Given the description of an element on the screen output the (x, y) to click on. 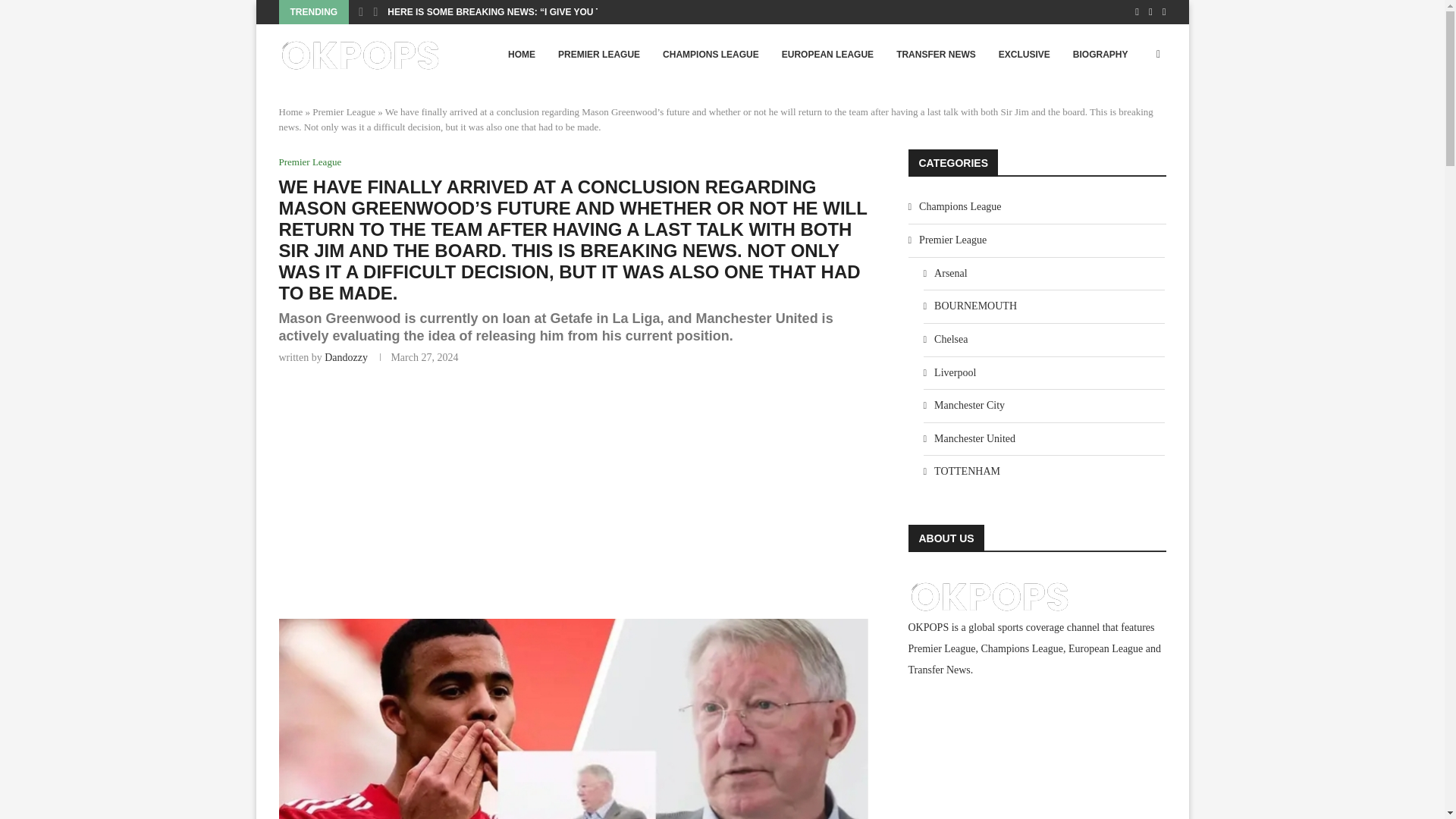
EUROPEAN LEAGUE (827, 54)
TRANSFER NEWS (936, 54)
EXCLUSIVE (1024, 54)
Home (290, 111)
Advertisement (574, 490)
BIOGRAPHY (1100, 54)
Premier League (310, 162)
CHAMPIONS LEAGUE (710, 54)
PREMIER LEAGUE (598, 54)
